Given the description of an element on the screen output the (x, y) to click on. 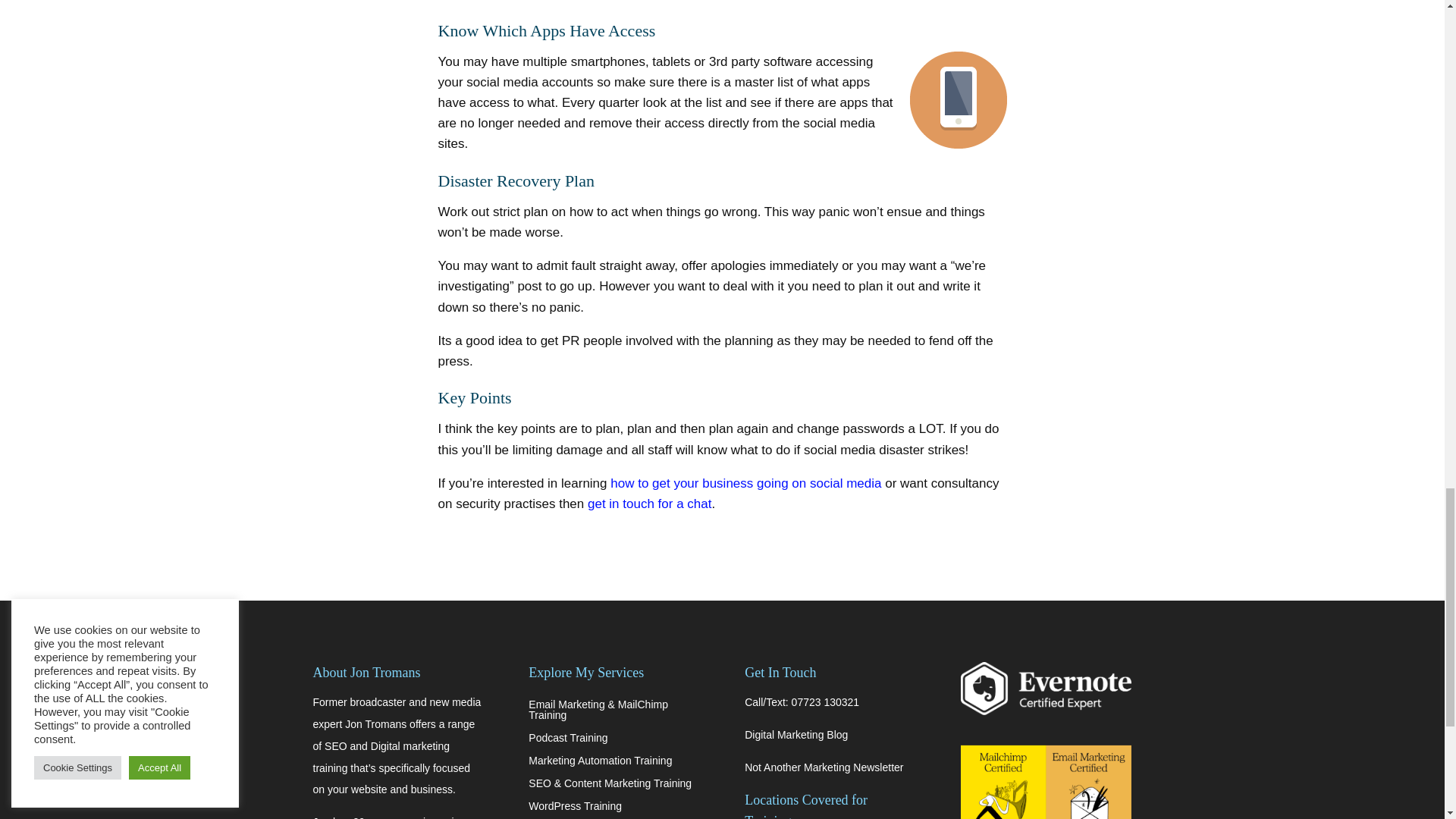
Evernote Certified Expert (1045, 687)
Mailchimp Certified (1045, 778)
Contact (649, 503)
